Given the description of an element on the screen output the (x, y) to click on. 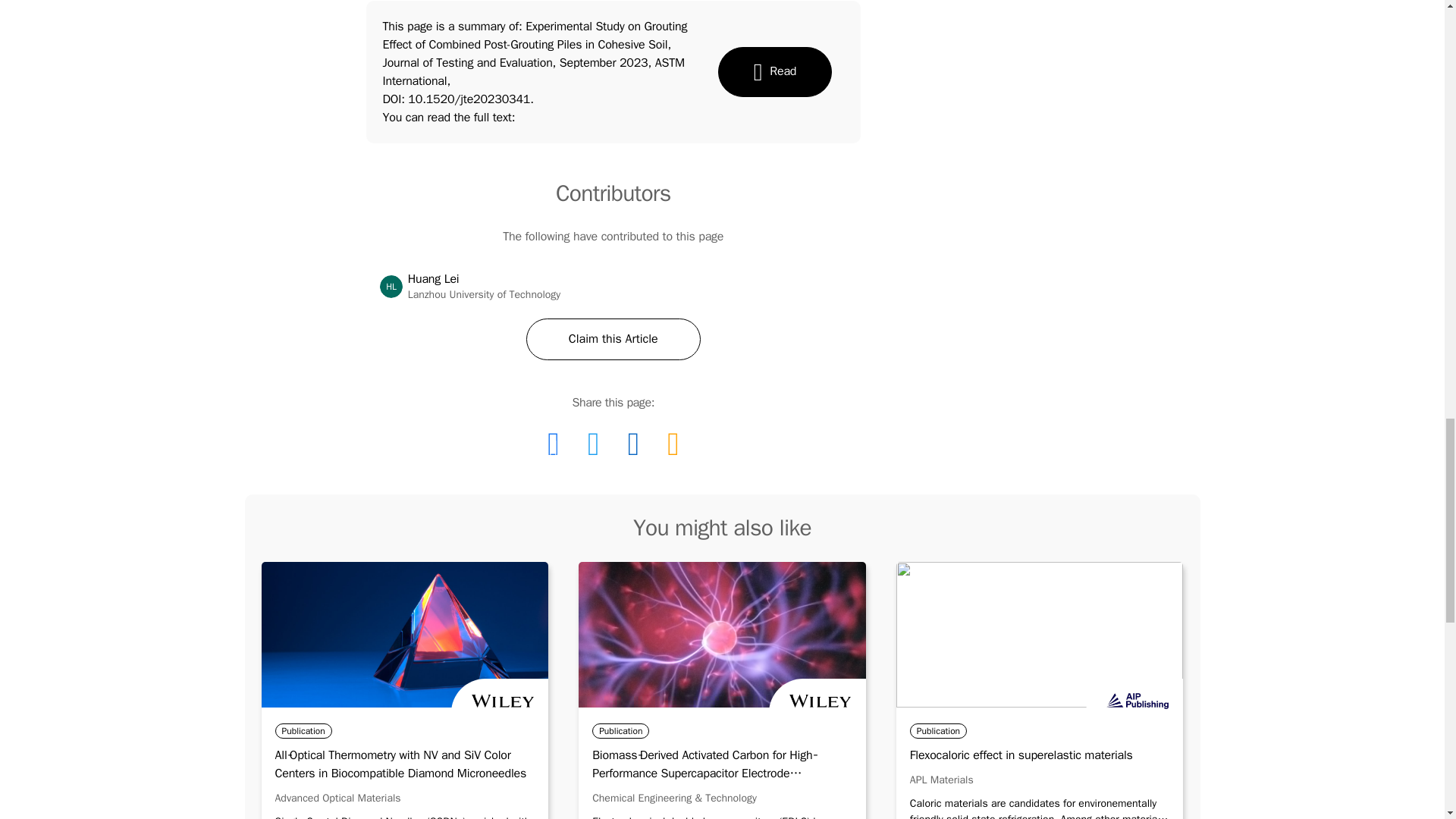
Share this page via LinkedIn (633, 444)
APL Materials (942, 779)
Advanced Optical Materials (391, 286)
Flexocaloric effect in superelastic materials (337, 797)
Share this page via email (1040, 755)
Share this page via Facebook (672, 444)
Share this page via Twitter (553, 444)
Read (593, 444)
Claim this Article (774, 71)
